Given the description of an element on the screen output the (x, y) to click on. 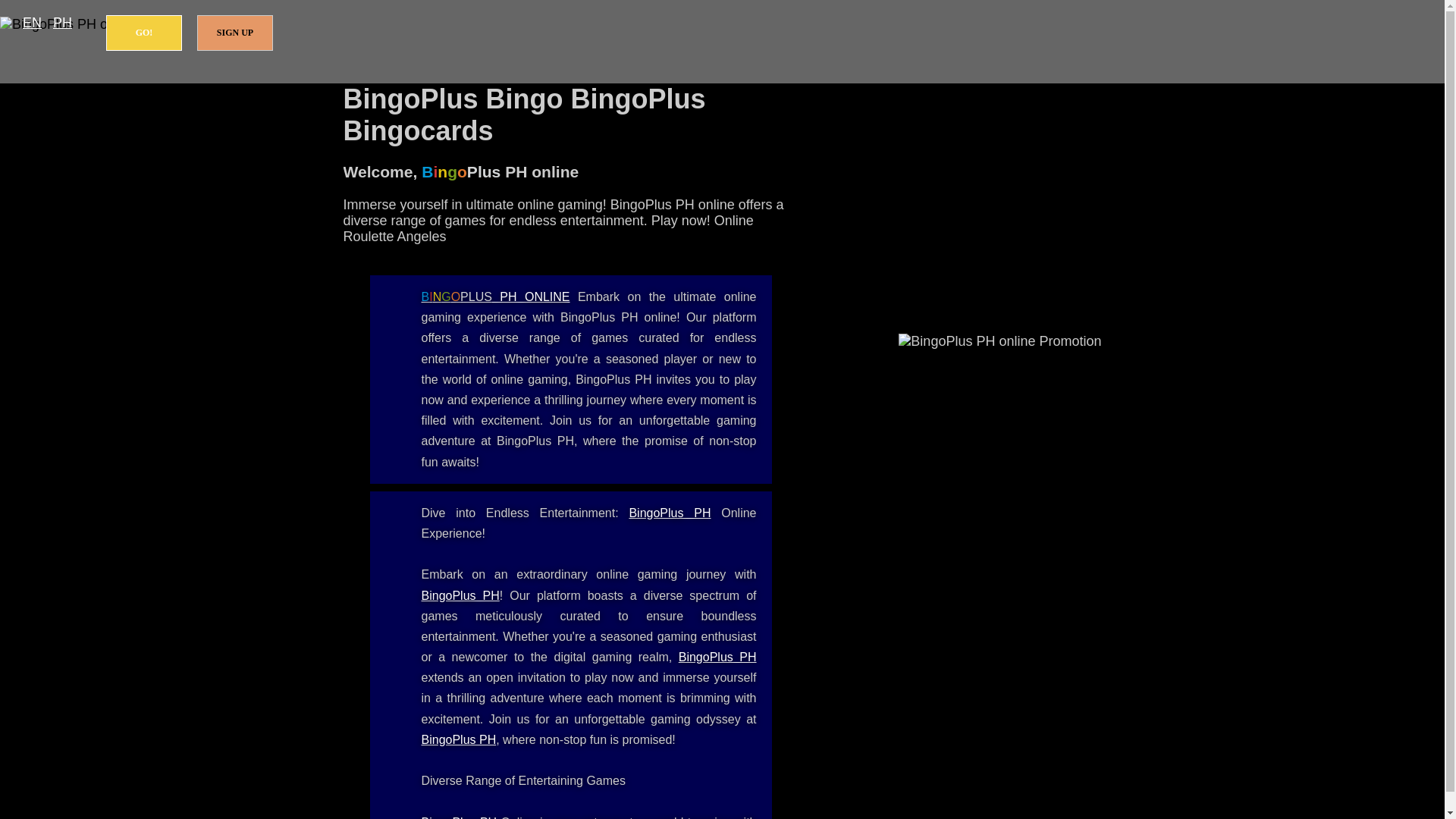
BingoPlus PH (717, 656)
GO! (144, 32)
Pilipinas - Filipino (61, 23)
BingoPlus PH - BingoPlus PH online (717, 656)
BingoPlus PH (669, 512)
English - Filipino (32, 23)
BingoPlus PH (459, 817)
BingoPlus PH online (496, 296)
BingoPlus PH - BingoPlus PH online (669, 512)
BingoPlus PH - BingoPlus PH online (459, 817)
EN (32, 23)
BINGOPLUS PH ONLINE (496, 296)
SIGN UP (234, 32)
BingoPlus PH - BingoPlus PH online (459, 739)
BingoPlus PH (460, 594)
